Given the description of an element on the screen output the (x, y) to click on. 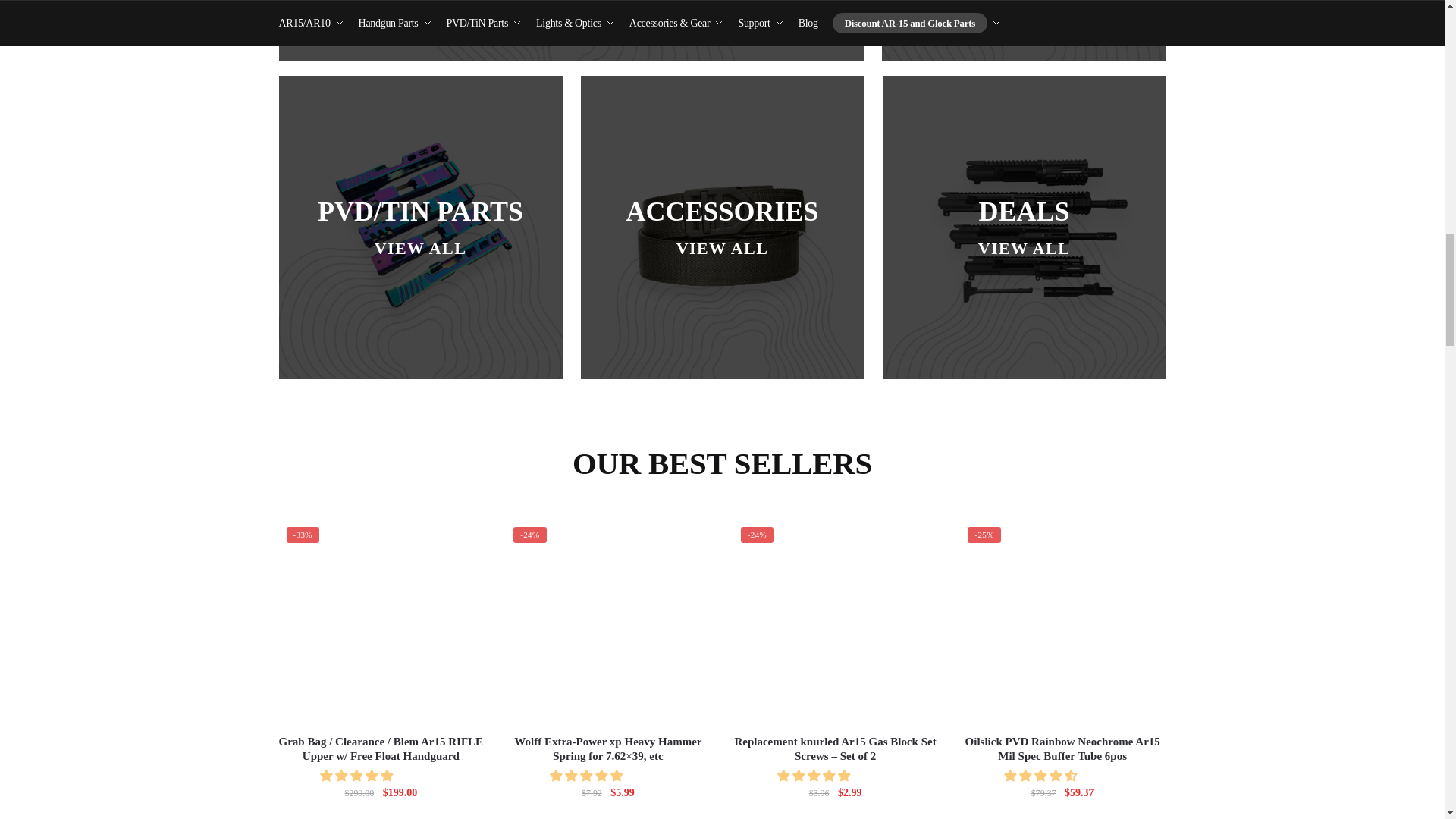
Home - photo 4 (1061, 621)
Home - photo 2 (607, 621)
Home - photo 3 (835, 621)
Home - photo 1 (381, 621)
